Given the description of an element on the screen output the (x, y) to click on. 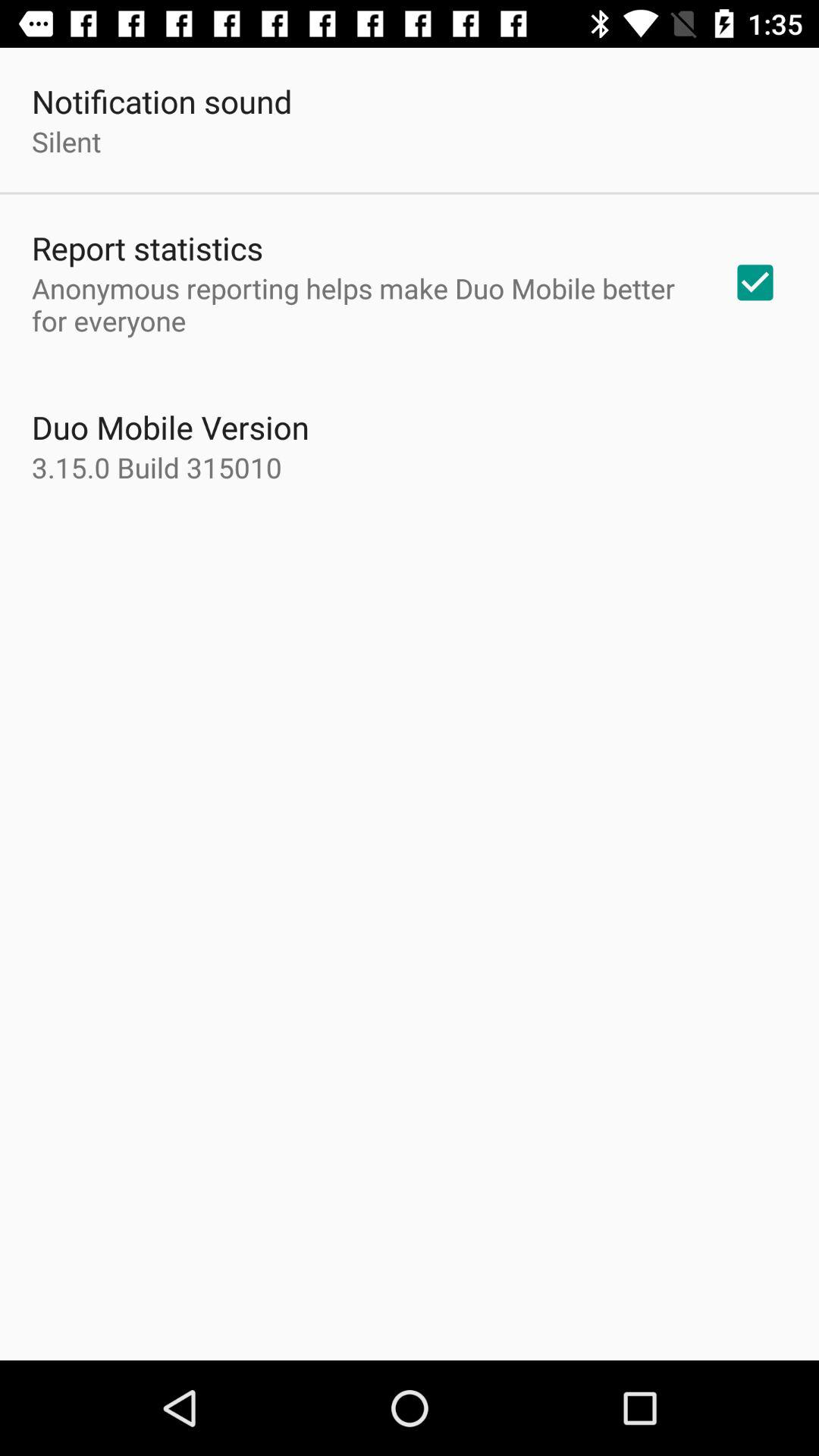
click the app above the anonymous reporting helps app (147, 247)
